Given the description of an element on the screen output the (x, y) to click on. 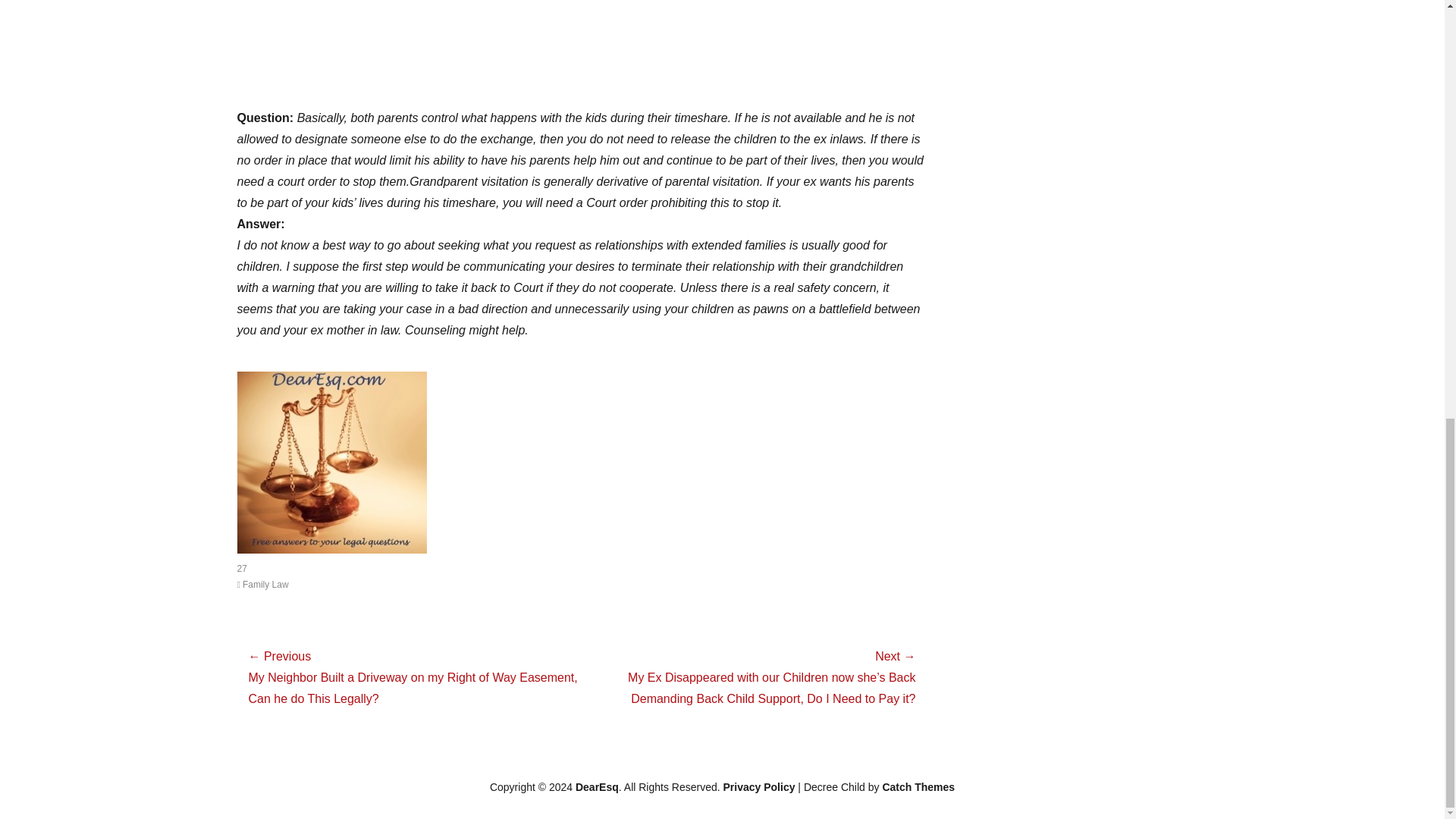
DearEsq (596, 787)
Catch Themes (918, 787)
Advertisement (580, 53)
Privacy Policy (758, 787)
Family Law (261, 584)
